Given the description of an element on the screen output the (x, y) to click on. 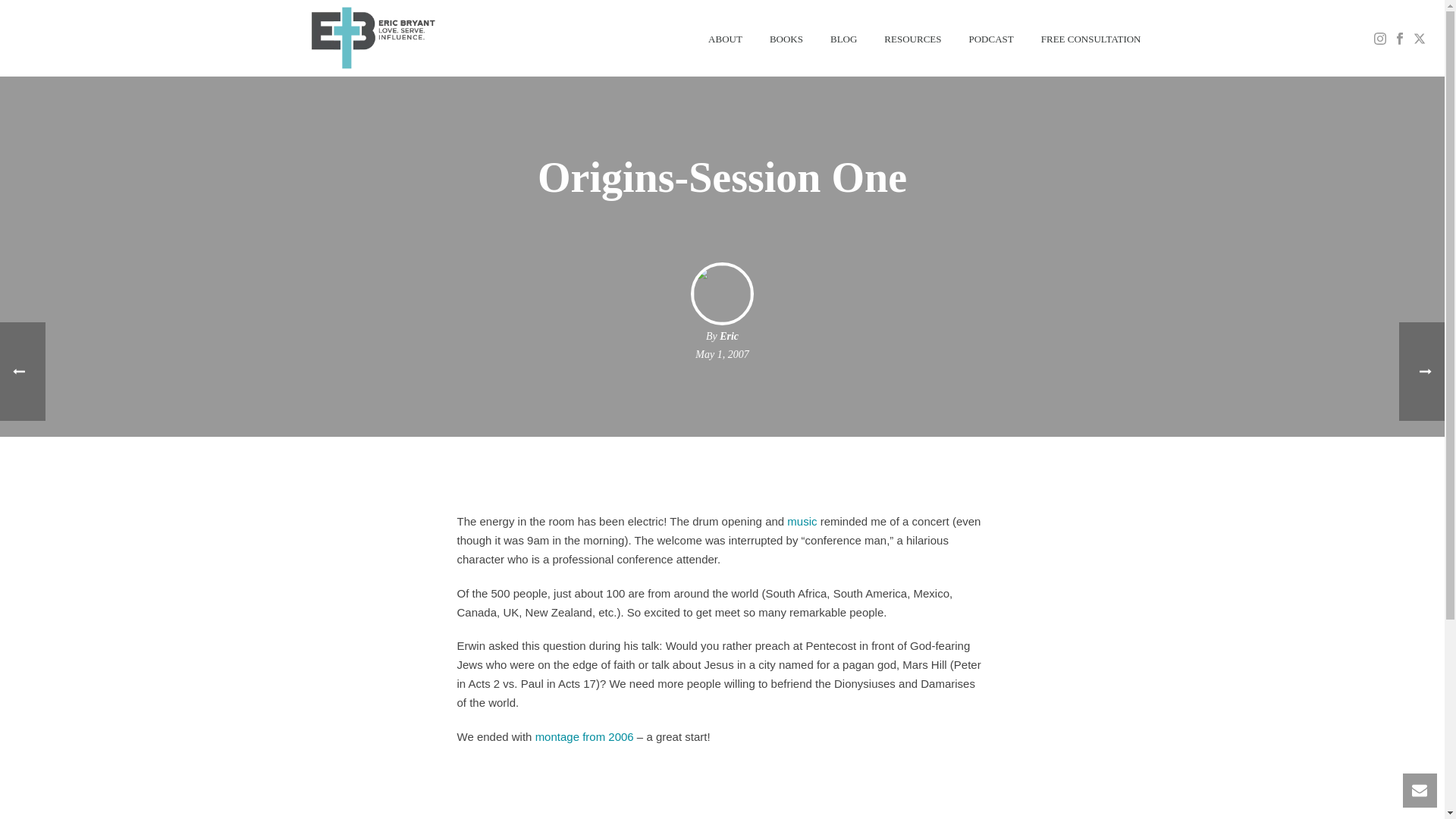
PODCAST (991, 38)
FREE CONSULTATION (1090, 38)
FREE CONSULTATION (1090, 38)
RESOURCES (912, 38)
montage from 2006 (584, 736)
love. serve. influence. (371, 38)
May 1, 2007 (721, 354)
PODCAST (991, 38)
music (801, 521)
RESOURCES (912, 38)
Eric (728, 336)
